Given the description of an element on the screen output the (x, y) to click on. 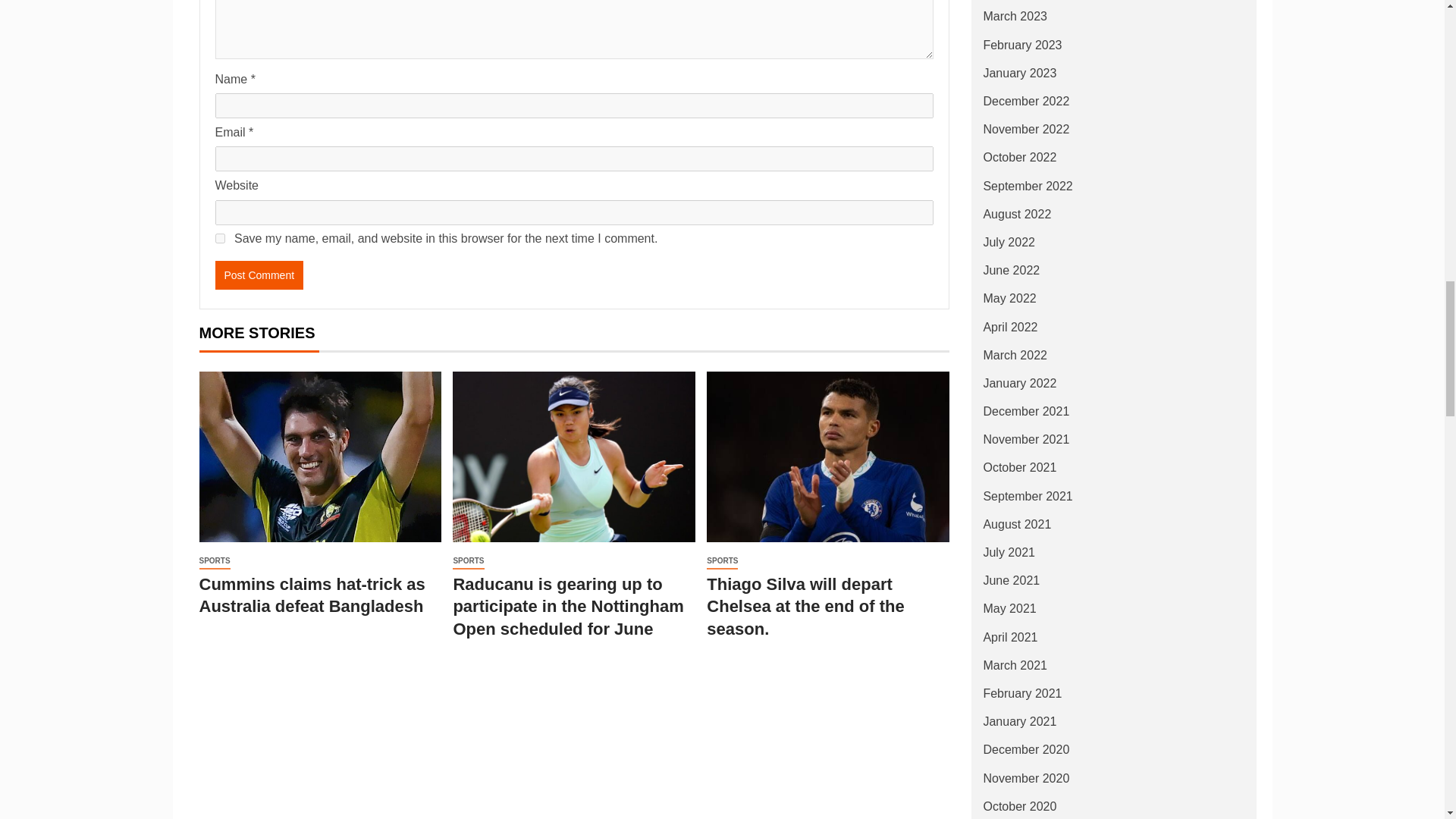
yes (220, 238)
Post Comment (259, 275)
Post Comment (259, 275)
